Given the description of an element on the screen output the (x, y) to click on. 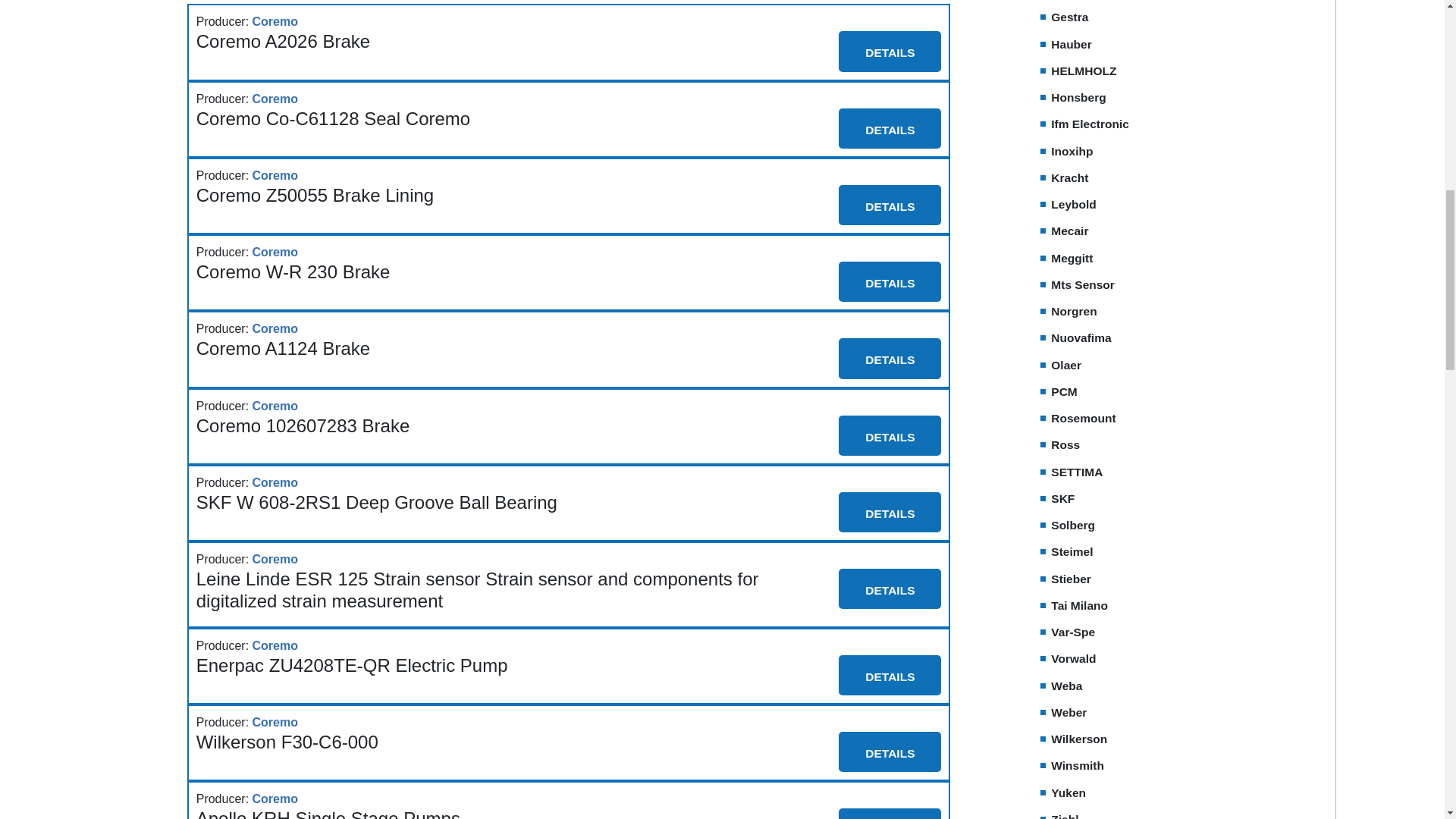
Coremo (274, 22)
